Given the description of an element on the screen output the (x, y) to click on. 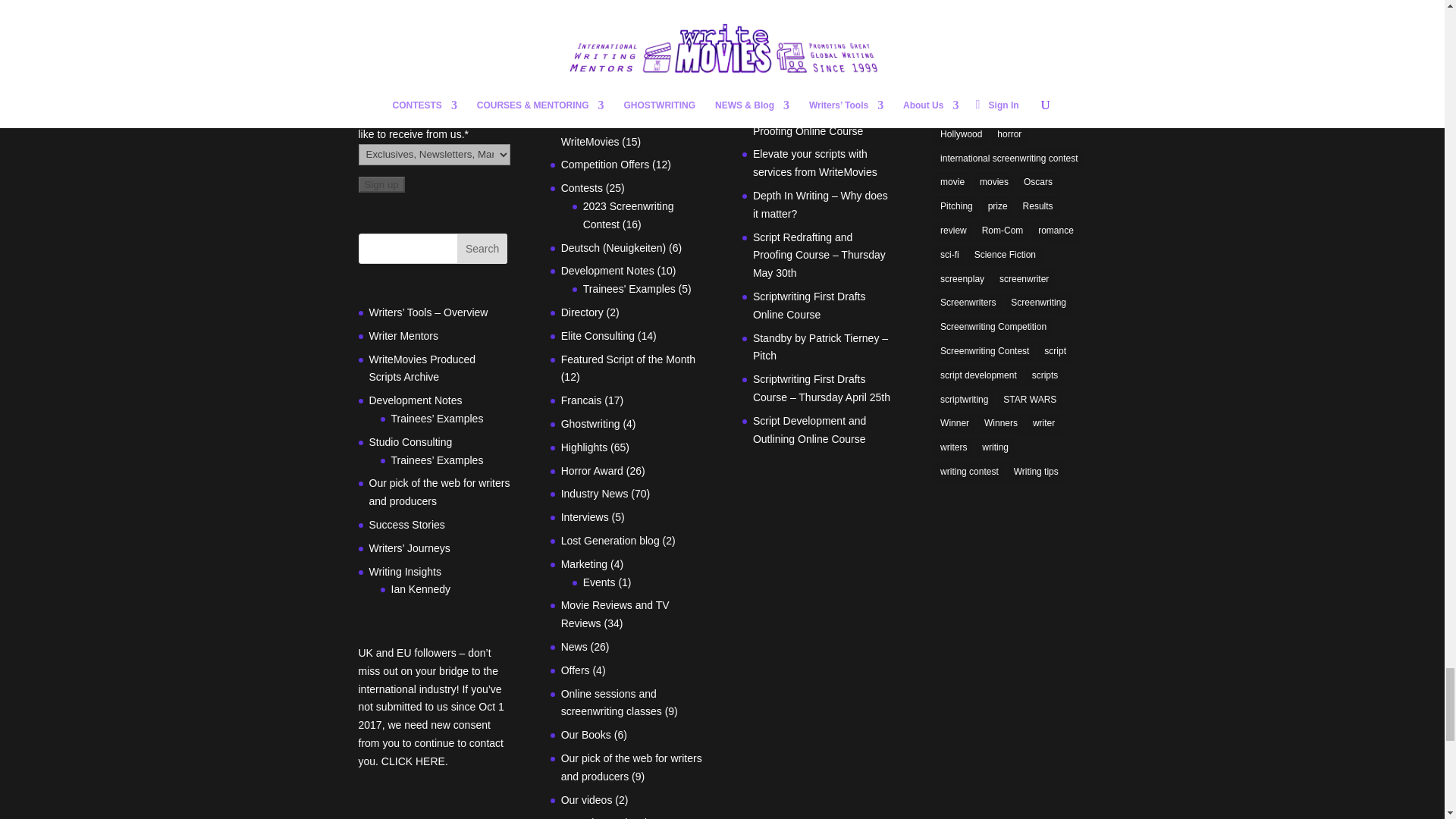
Search (481, 248)
Sign up (381, 184)
